Given the description of an element on the screen output the (x, y) to click on. 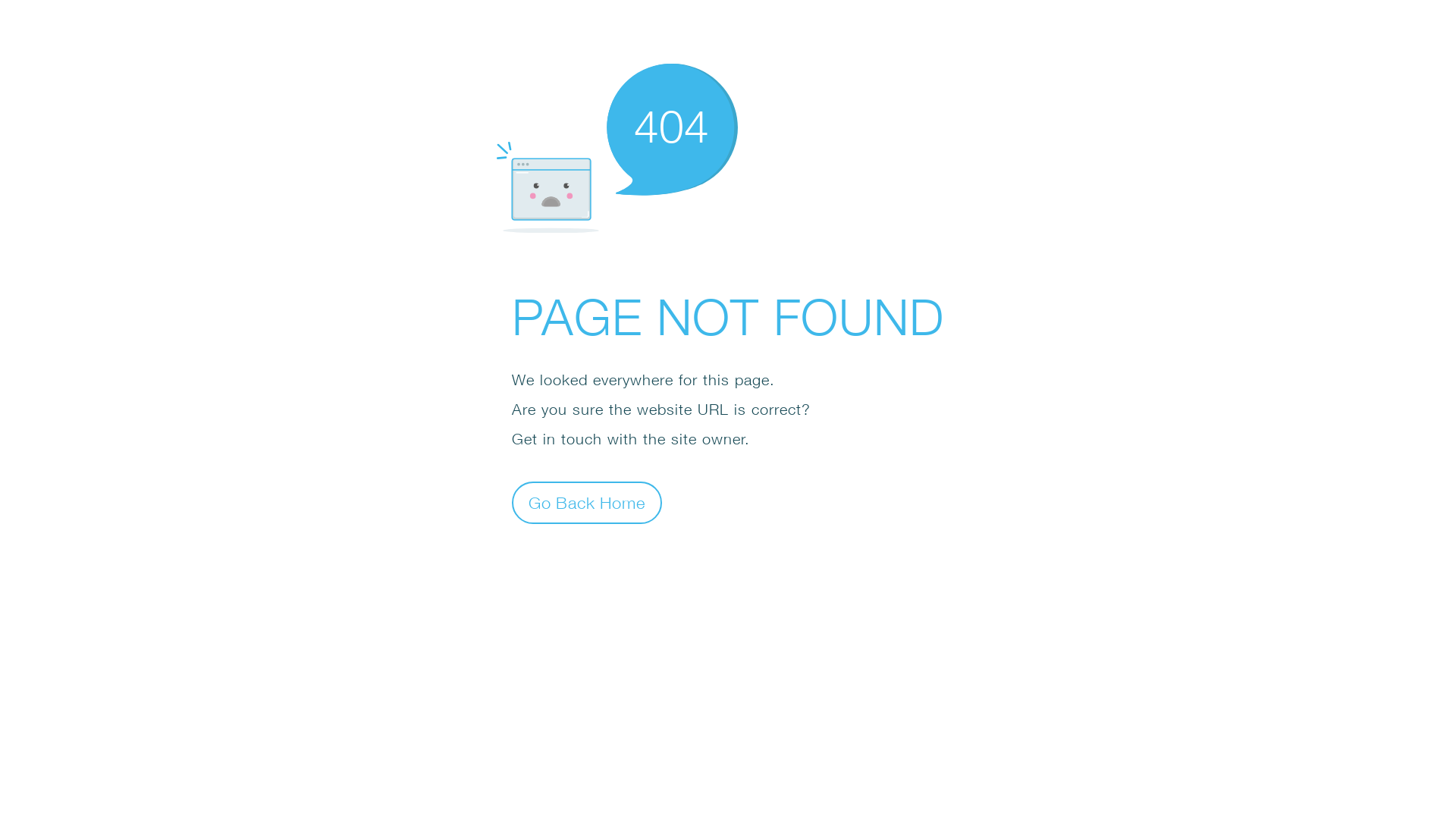
Go Back Home Element type: text (586, 502)
